Given the description of an element on the screen output the (x, y) to click on. 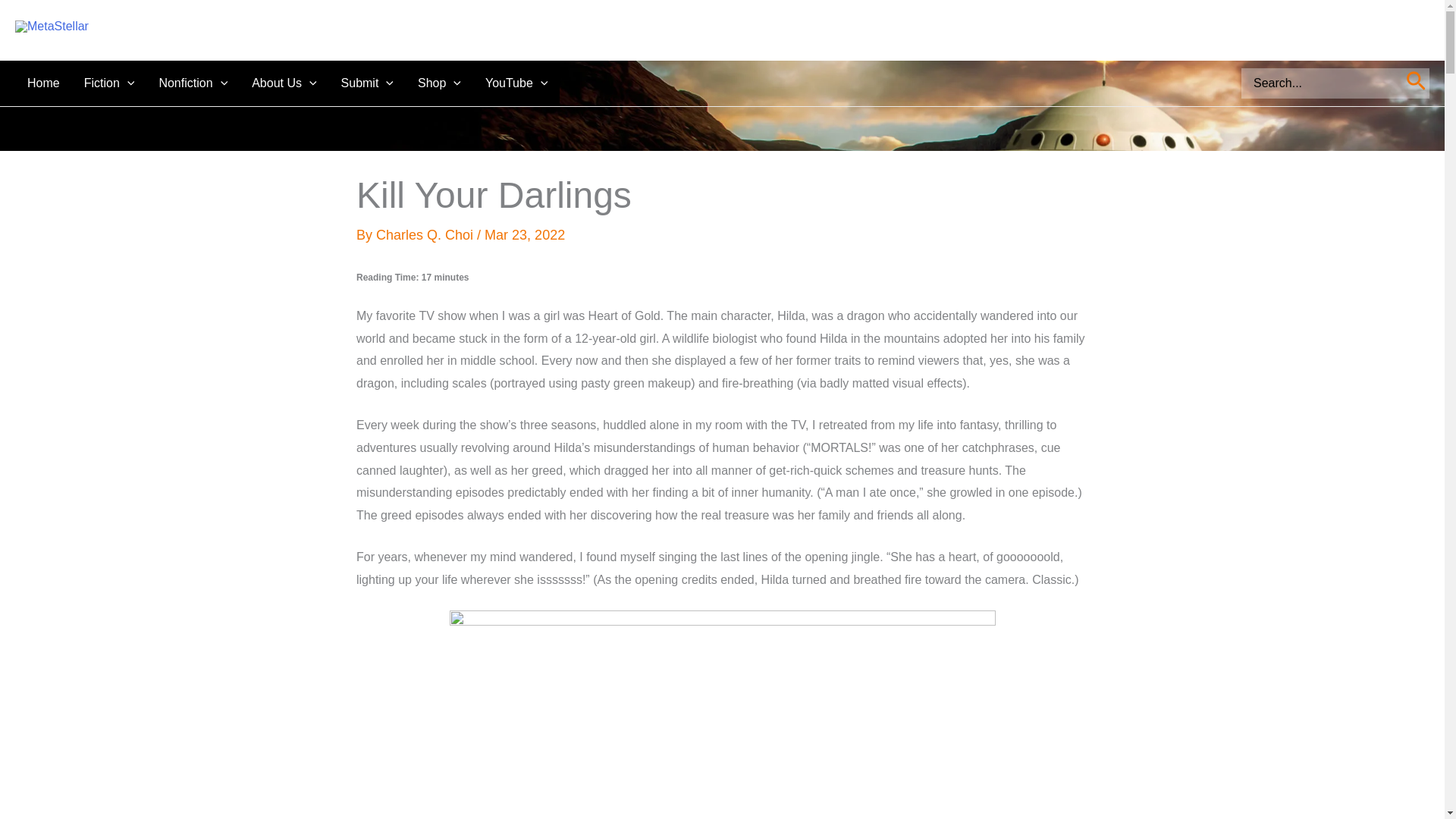
About Us (284, 83)
Home (42, 83)
Fiction (109, 83)
Nonfiction (193, 83)
Submit (367, 83)
View all posts by Charles Q. Choi (426, 234)
Shop (439, 83)
